Given the description of an element on the screen output the (x, y) to click on. 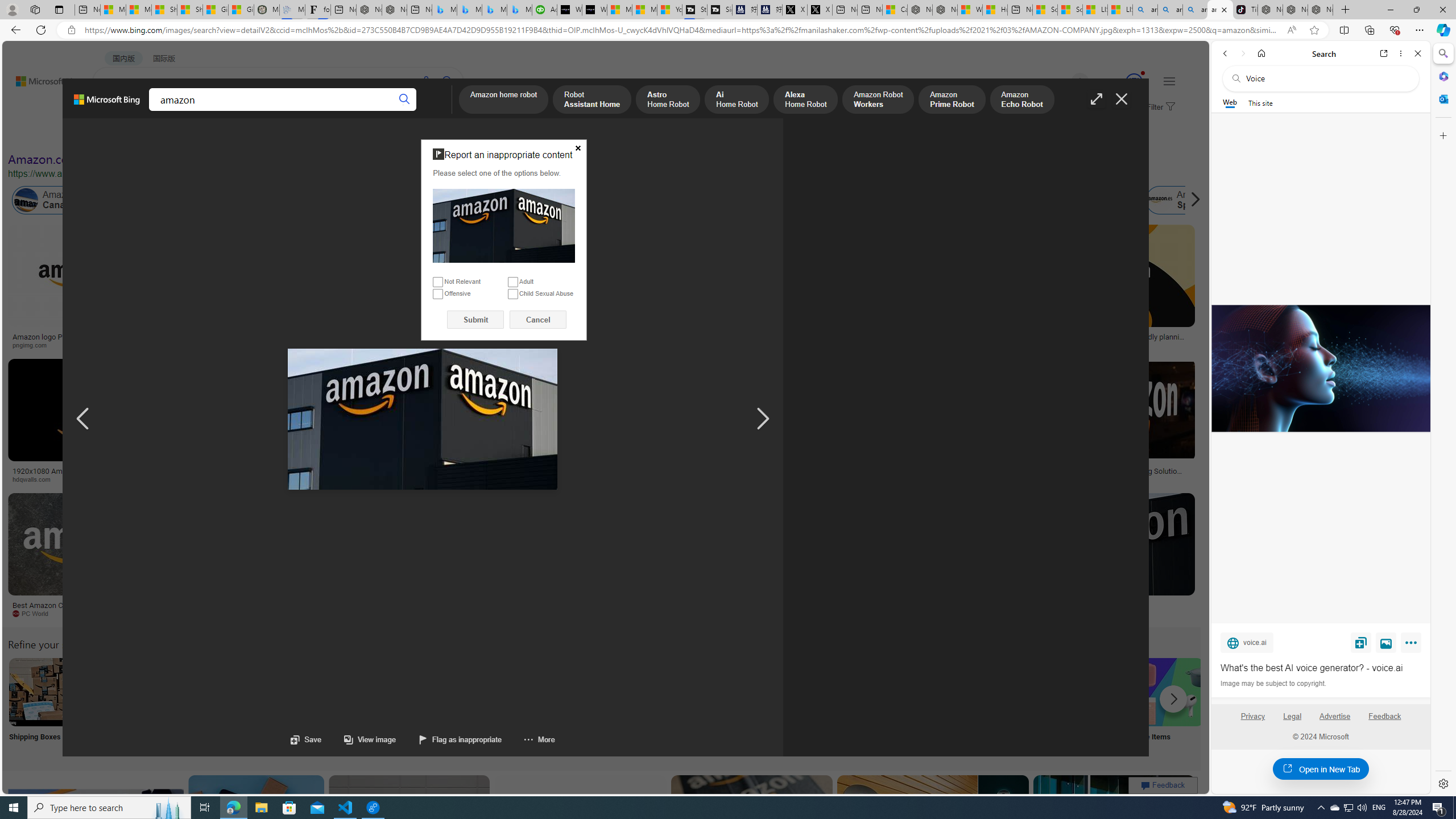
Not Relevant (437, 282)
Amazon down? Current status and problems | Downdetector (937, 340)
Offensive (437, 293)
Amazon.com. Spend less. Smile more. (110, 158)
More options (1401, 53)
Amazon Online Shopping Homepage Online Shopping Homepage (868, 706)
What's the best AI voice generator? - voice.ai (1320, 368)
View image (1385, 642)
Huge shark washes ashore at New York City beach | Watch (993, 9)
